Given the description of an element on the screen output the (x, y) to click on. 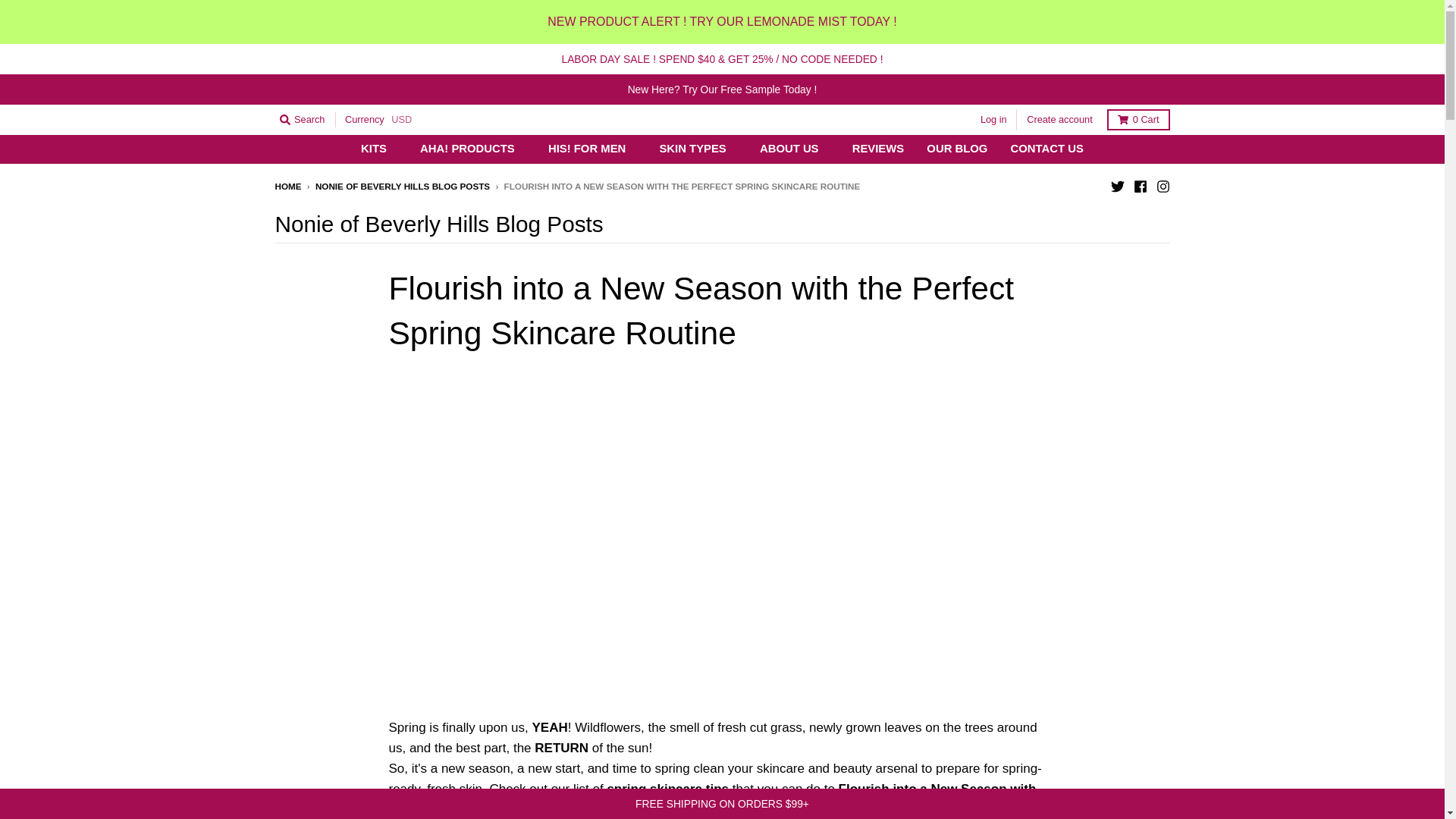
ABOUT US (794, 149)
AHA! PRODUCTS (472, 149)
0 Cart (1137, 119)
Back to the frontpage (288, 185)
Create account (1059, 119)
Search (302, 119)
SKIN TYPES (697, 149)
KITS (378, 149)
Facebook - Nonie of Beverly Hills (1139, 185)
HIS! FOR MEN (592, 149)
